Given the description of an element on the screen output the (x, y) to click on. 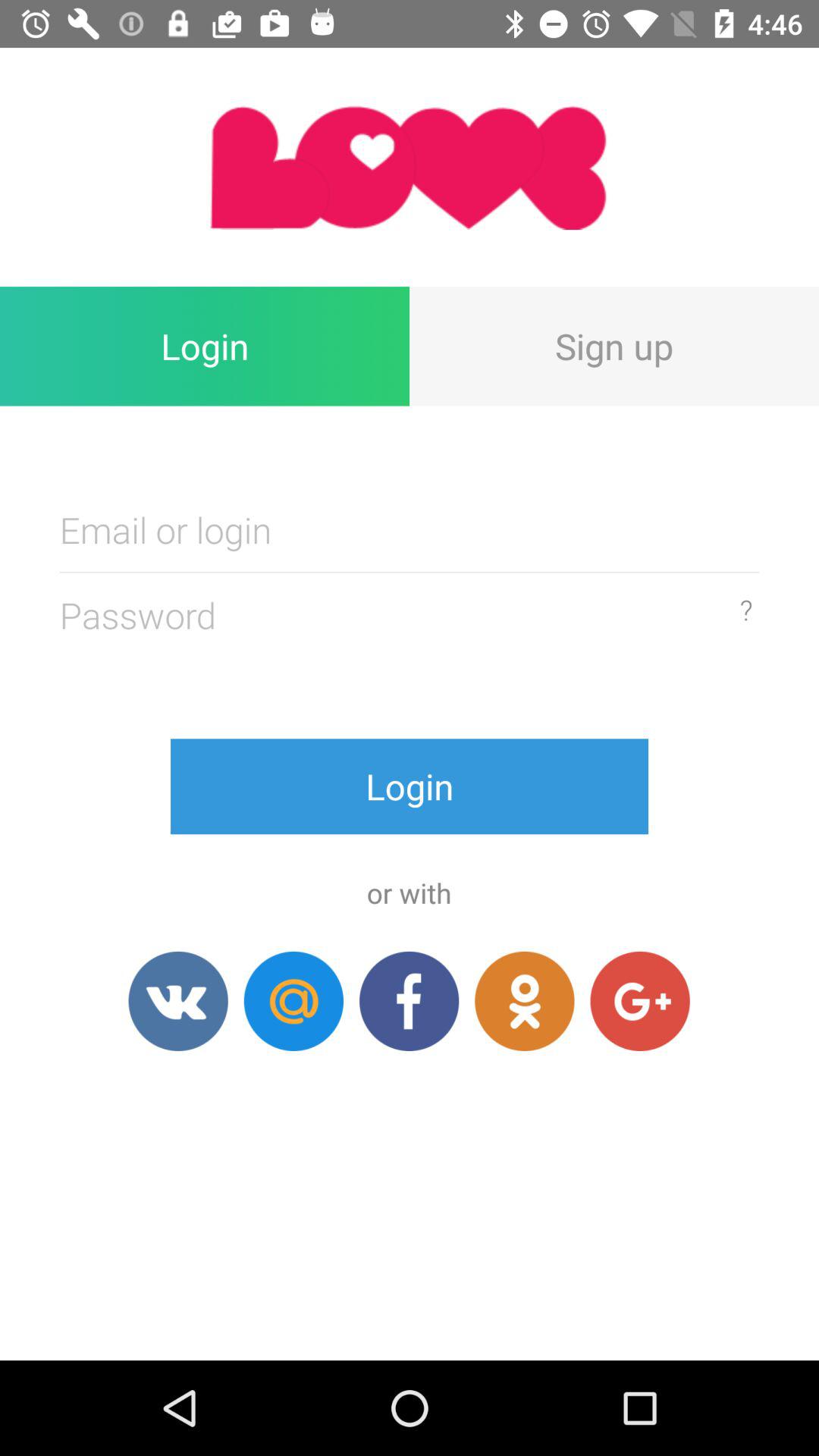
select item below login button (178, 1001)
